Given the description of an element on the screen output the (x, y) to click on. 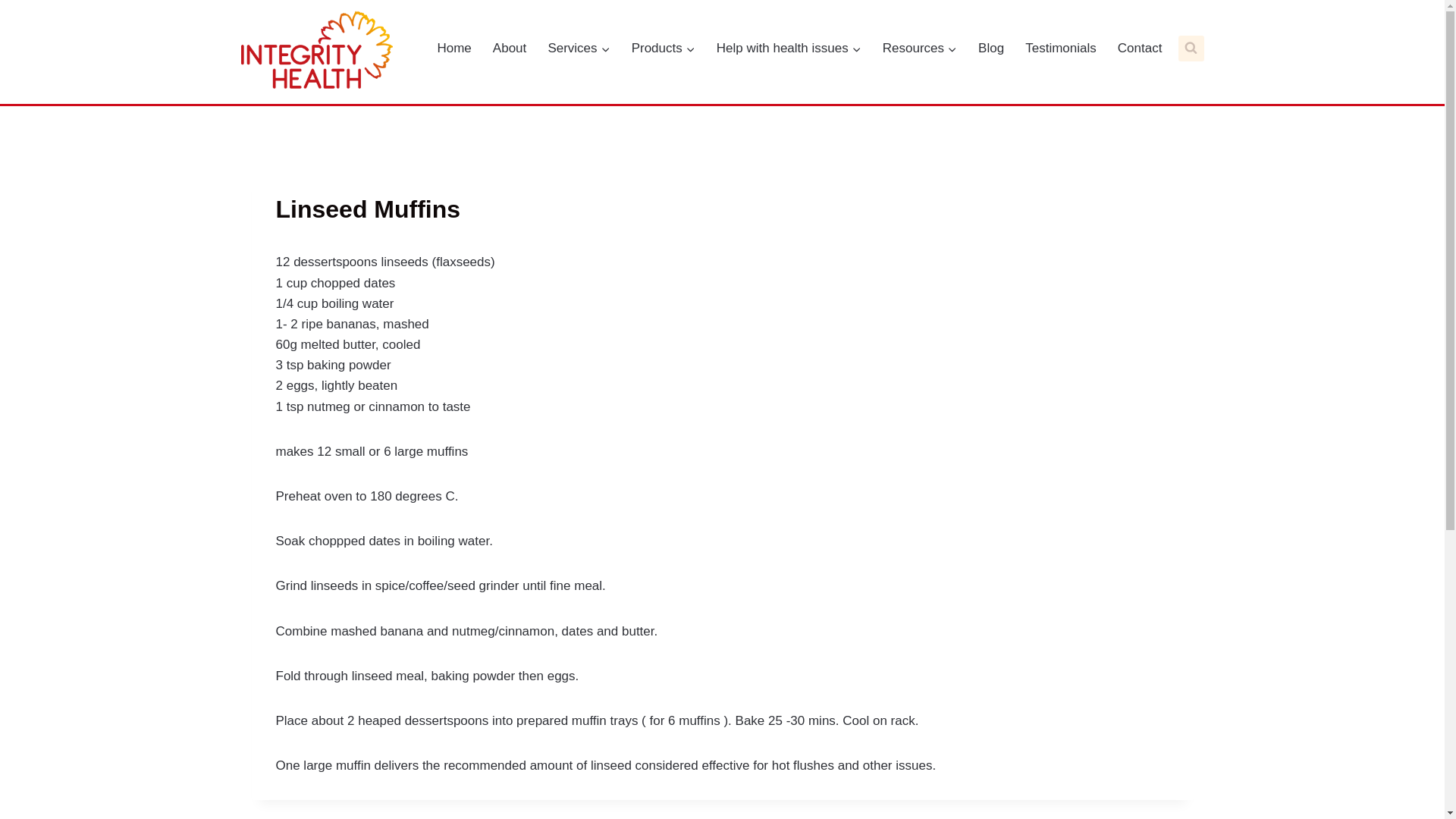
Services Element type: text (578, 48)
About Element type: text (509, 48)
Blog Element type: text (990, 48)
Help with health issues Element type: text (788, 48)
Home Element type: text (453, 48)
Products Element type: text (663, 48)
Contact Element type: text (1139, 48)
Testimonials Element type: text (1060, 48)
Resources Element type: text (919, 48)
